Given the description of an element on the screen output the (x, y) to click on. 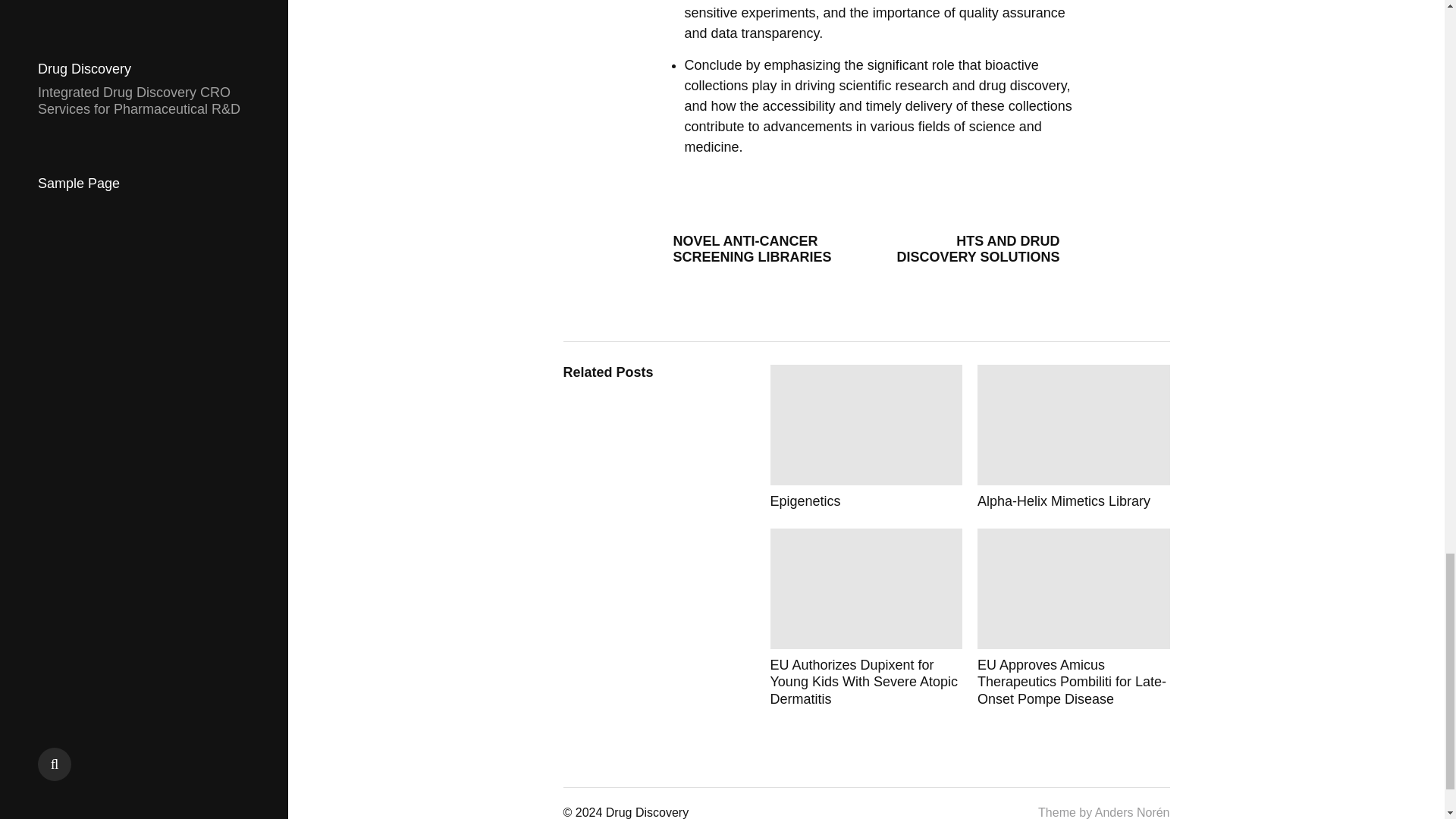
NOVEL ANTI-CANCER SCREENING LIBRARIES (753, 249)
Alpha-Helix Mimetics Library (1073, 436)
Epigenetics (866, 436)
HTS AND DRUD DISCOVERY SOLUTIONS (977, 249)
